Given the description of an element on the screen output the (x, y) to click on. 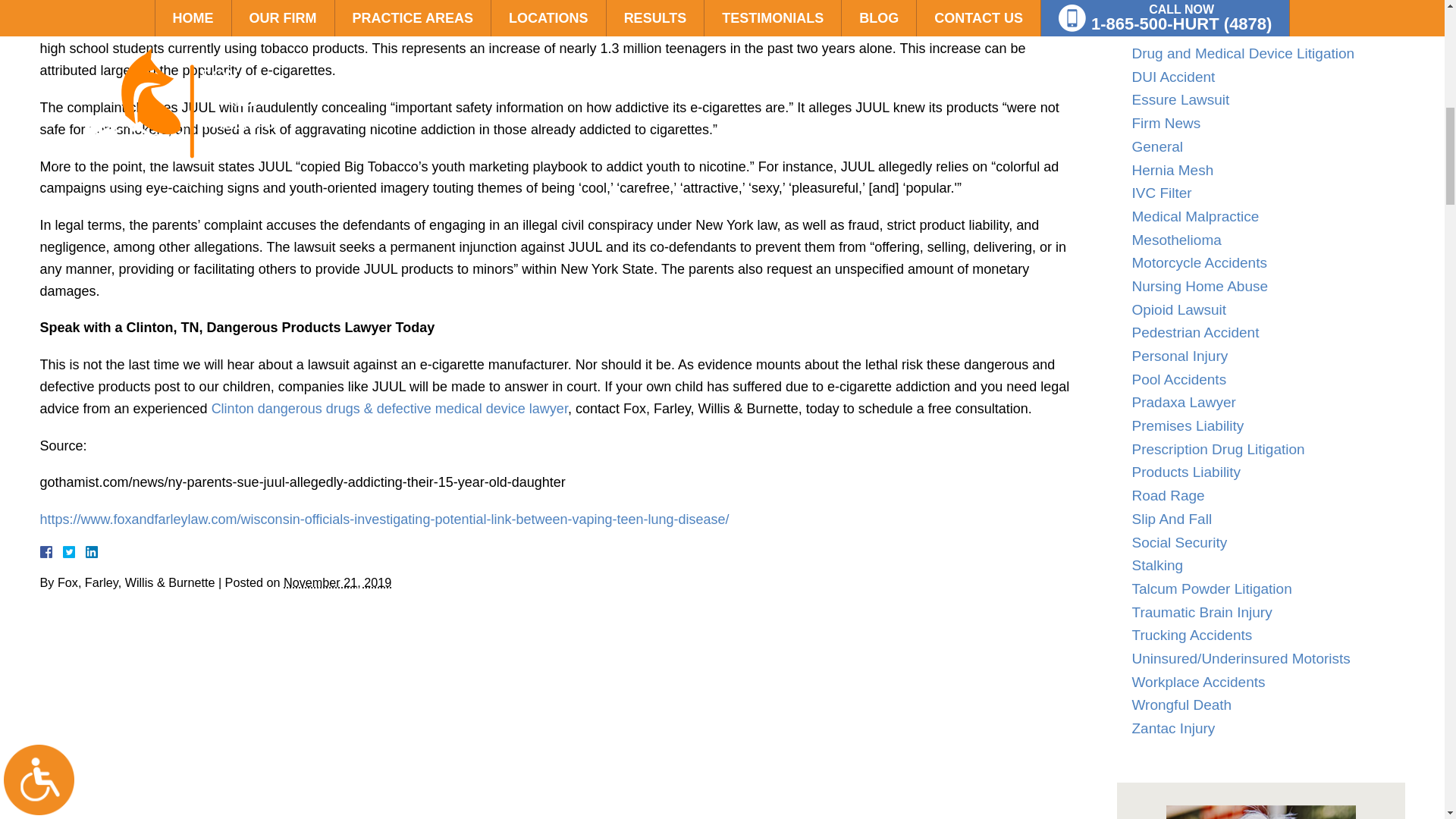
Bruce Fox (1260, 812)
Facebook (63, 551)
2019-11-21T03:00:53-0800 (337, 581)
Twitter (74, 551)
LinkedIn (85, 551)
